Given the description of an element on the screen output the (x, y) to click on. 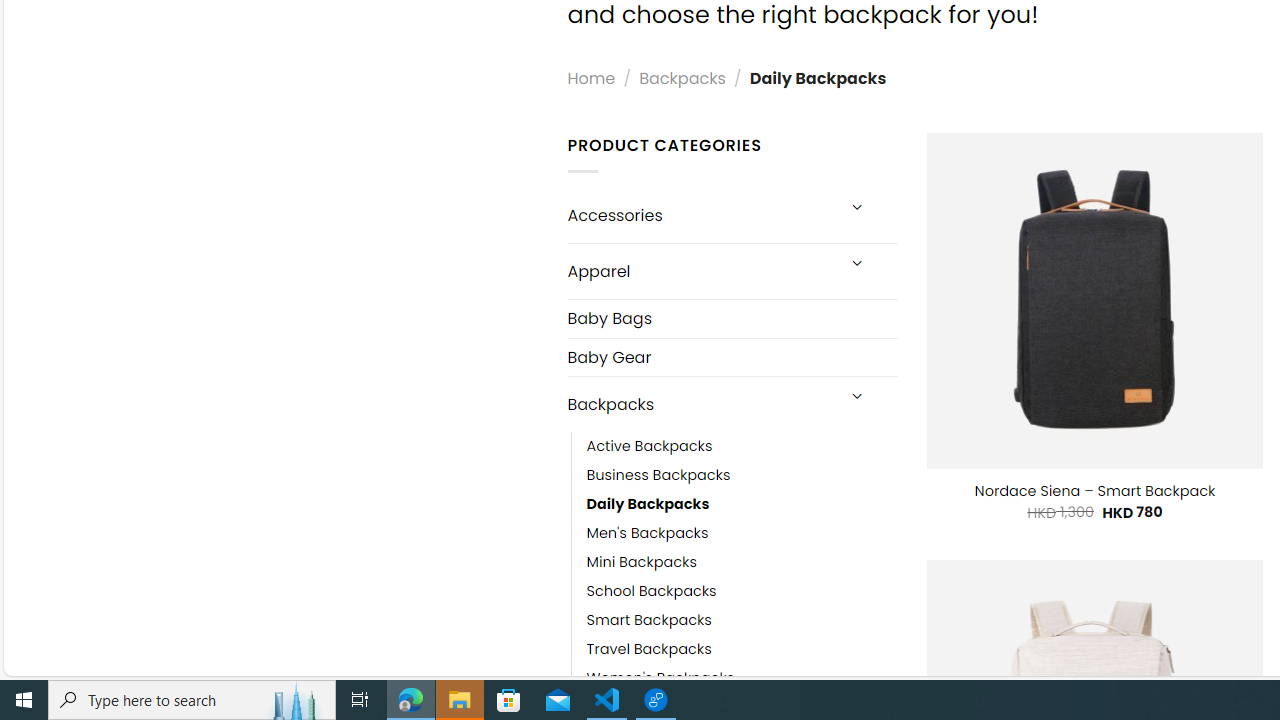
Business Backpacks (658, 475)
Smart Backpacks (742, 620)
Baby Bags (732, 317)
Backpacks (700, 404)
Daily Backpacks (742, 504)
Mini Backpacks (742, 562)
Mini Backpacks (641, 562)
Baby Bags (732, 318)
Baby Gear (732, 357)
Active Backpacks (742, 447)
Baby Gear (732, 356)
Smart Backpacks (648, 620)
Daily Backpacks (648, 504)
